Given the description of an element on the screen output the (x, y) to click on. 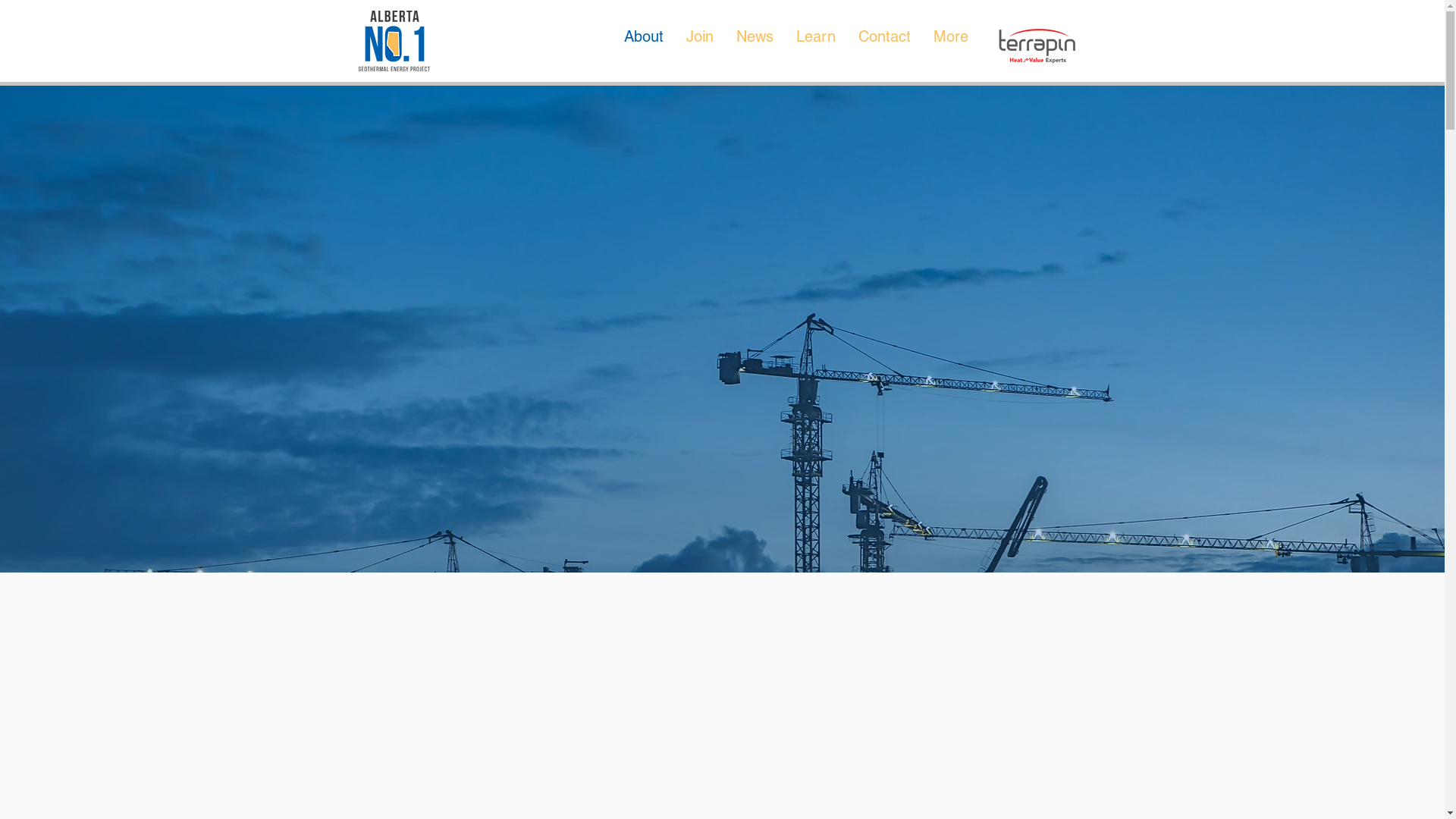
Join Element type: text (699, 44)
About Element type: text (643, 44)
Learn Element type: text (815, 44)
Contact Element type: text (883, 44)
News Element type: text (754, 44)
